Given the description of an element on the screen output the (x, y) to click on. 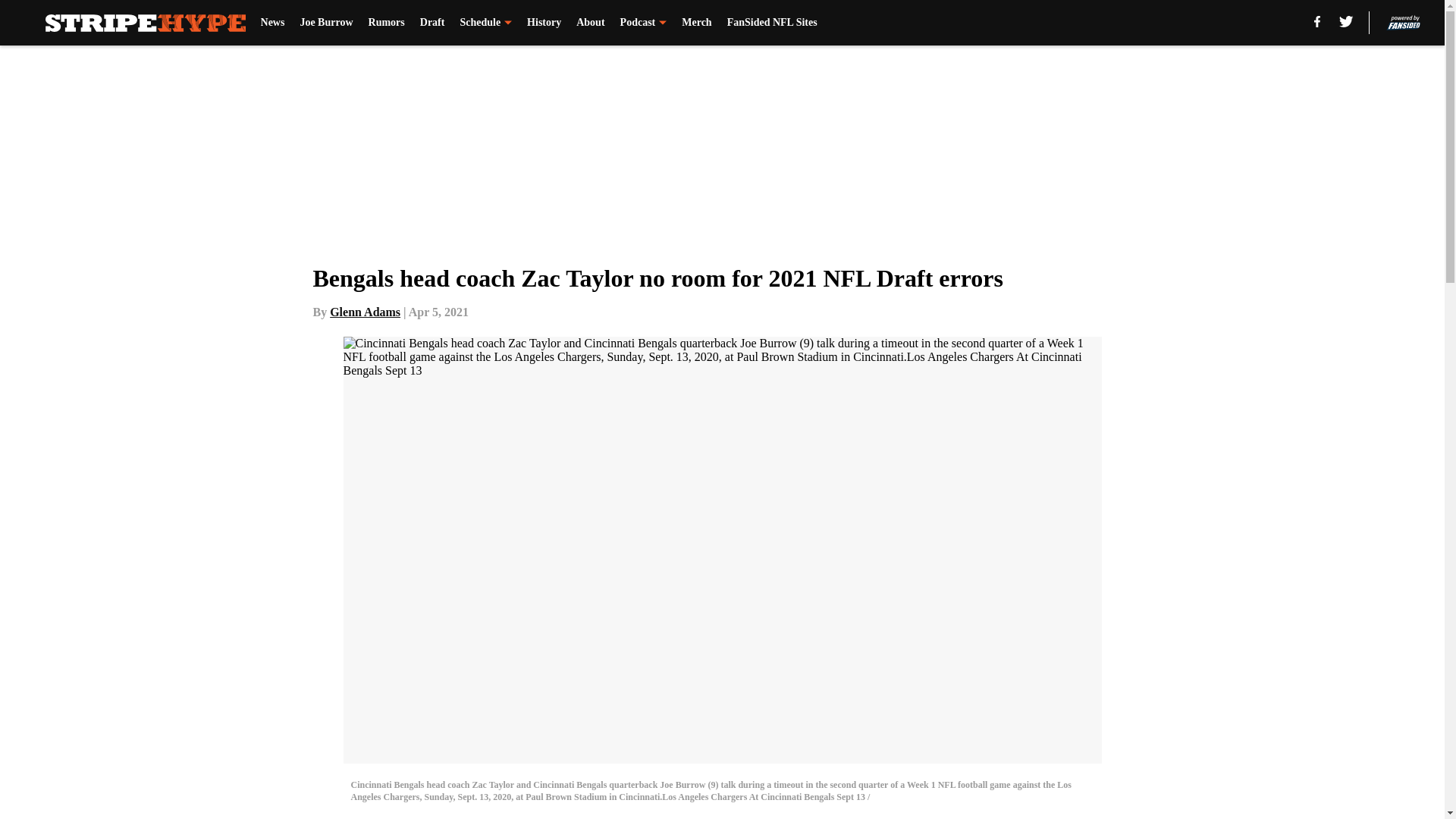
Glenn Adams (365, 311)
News (272, 22)
Merch (696, 22)
About (590, 22)
Draft (432, 22)
Rumors (386, 22)
History (543, 22)
FanSided NFL Sites (771, 22)
Joe Burrow (325, 22)
